Given the description of an element on the screen output the (x, y) to click on. 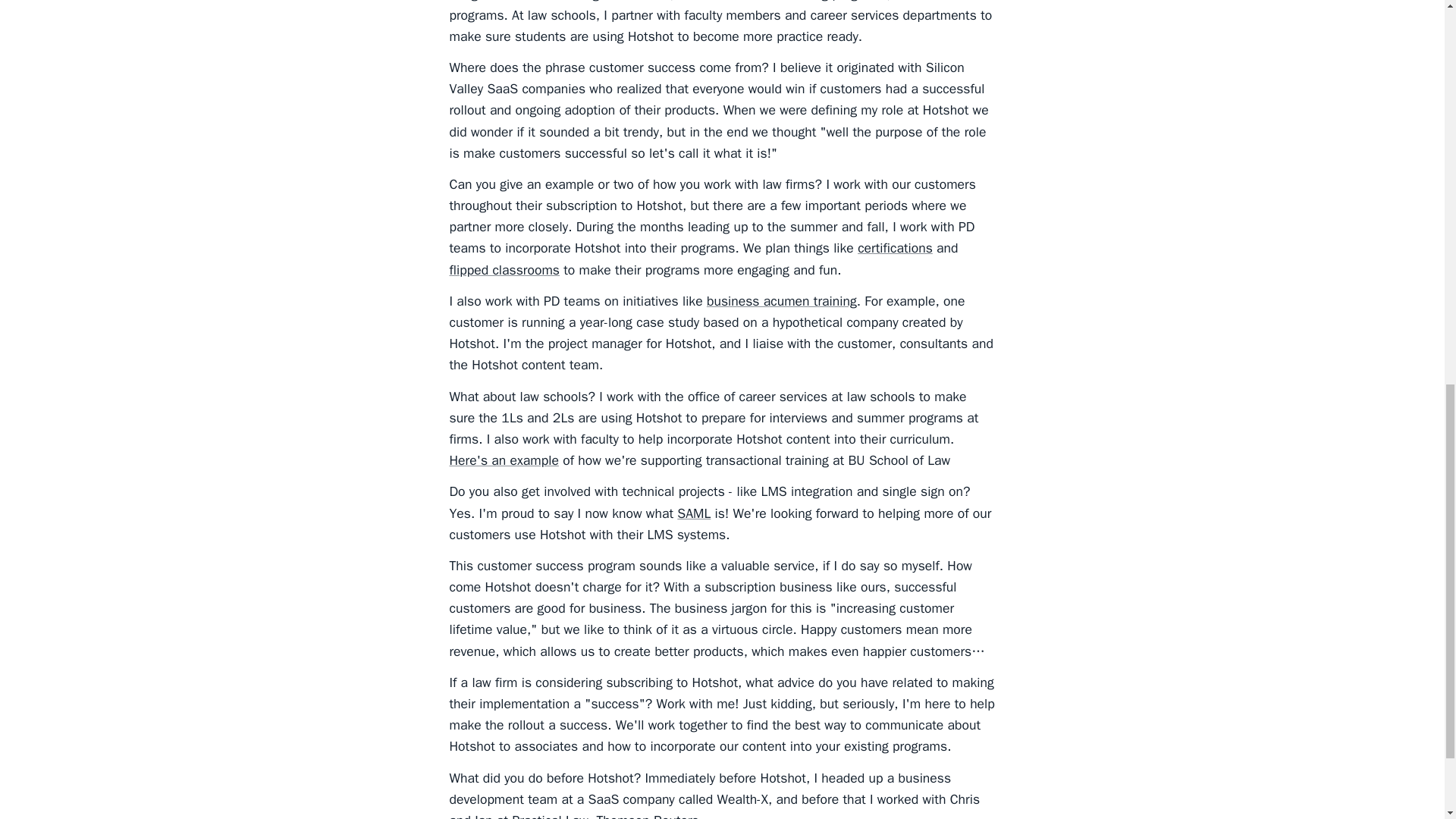
Here's an example (502, 460)
SAML (693, 513)
flipped classrooms (503, 269)
certifications (895, 247)
business acumen training (781, 300)
